Given the description of an element on the screen output the (x, y) to click on. 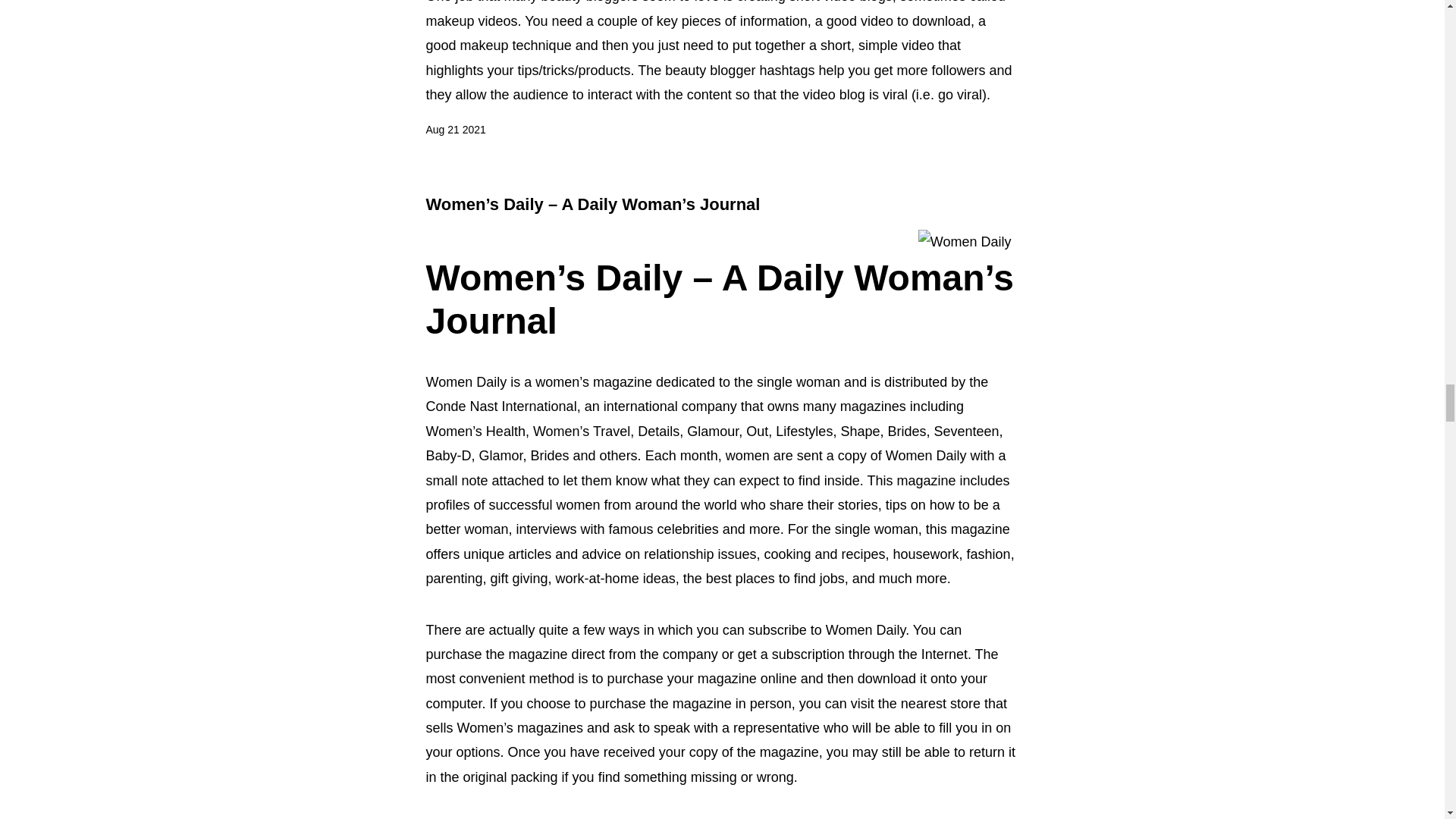
Aug 21 2021 (456, 130)
